Given the description of an element on the screen output the (x, y) to click on. 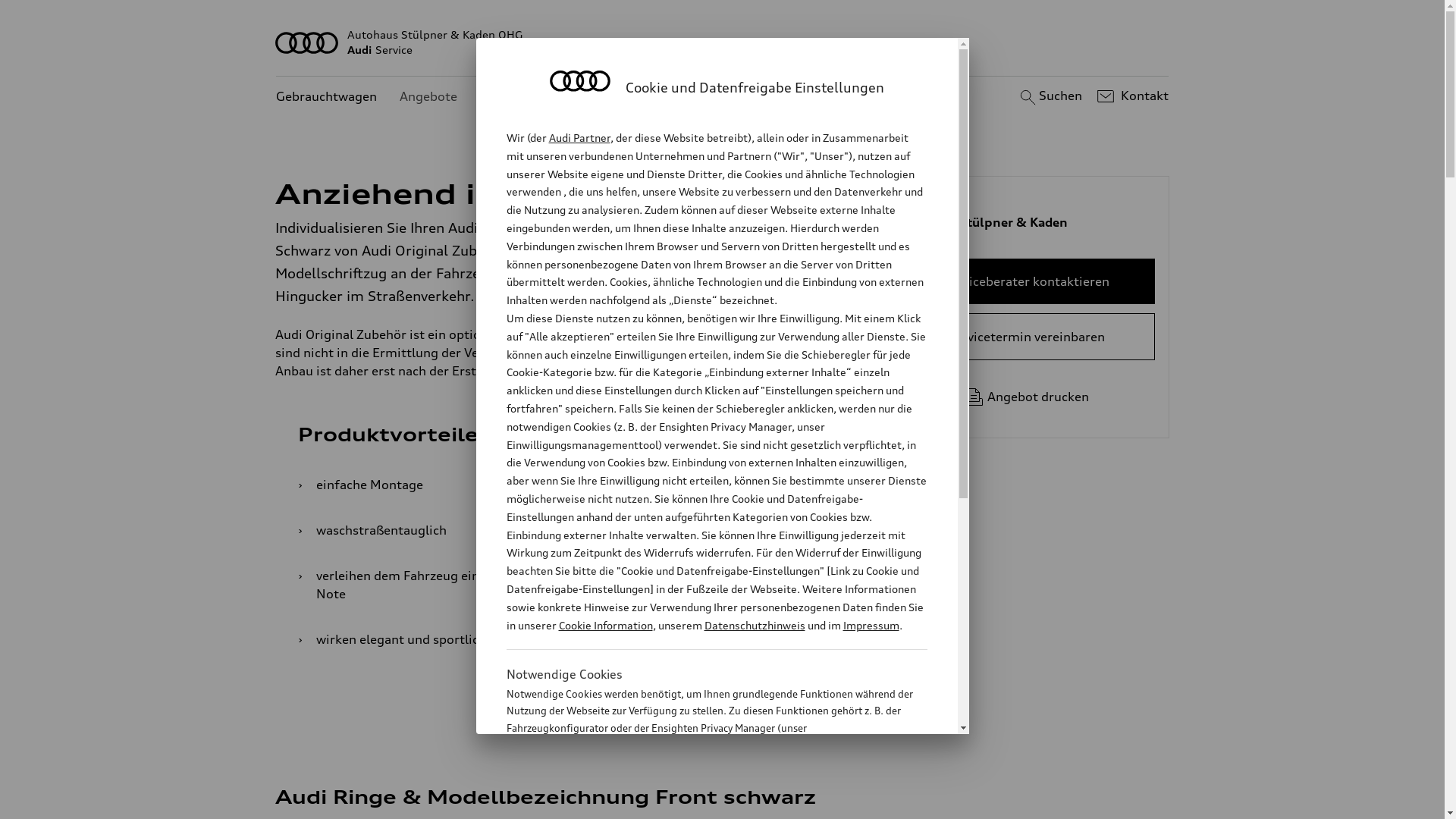
Cookie Information Element type: text (700, 802)
Cookie Information Element type: text (605, 624)
Serviceberater kontaktieren Element type: text (1025, 281)
Datenschutzhinweis Element type: text (753, 624)
Angebot drucken Element type: text (1026, 396)
Servicetermin vereinbaren Element type: text (1025, 336)
Kundenservice Element type: text (523, 96)
Gebrauchtwagen Element type: text (326, 96)
Impressum Element type: text (871, 624)
Audi Partner Element type: text (579, 137)
Suchen Element type: text (1049, 96)
Kontakt Element type: text (1130, 96)
Angebote Element type: text (428, 96)
